Given the description of an element on the screen output the (x, y) to click on. 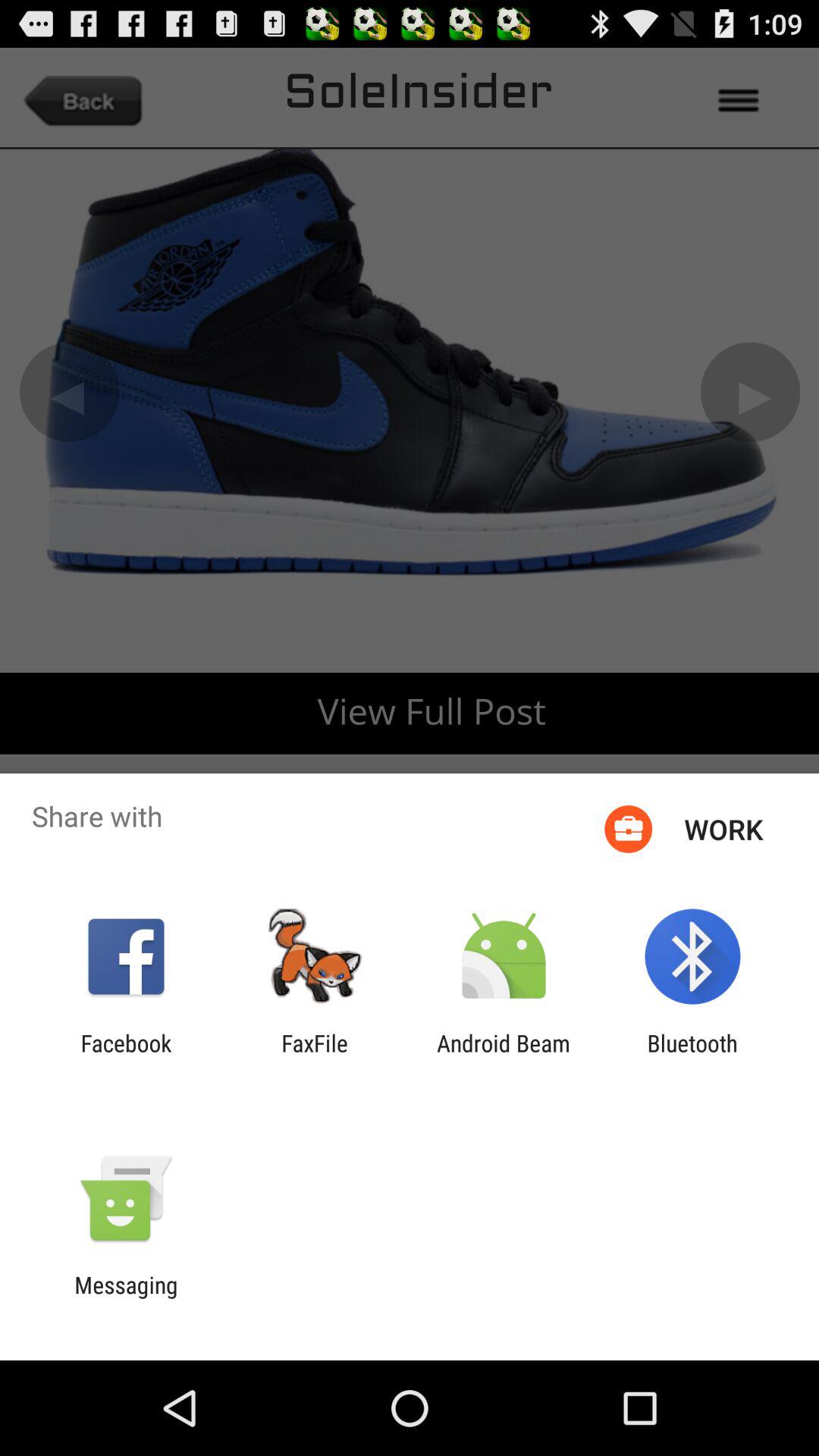
choose faxfile item (314, 1056)
